Given the description of an element on the screen output the (x, y) to click on. 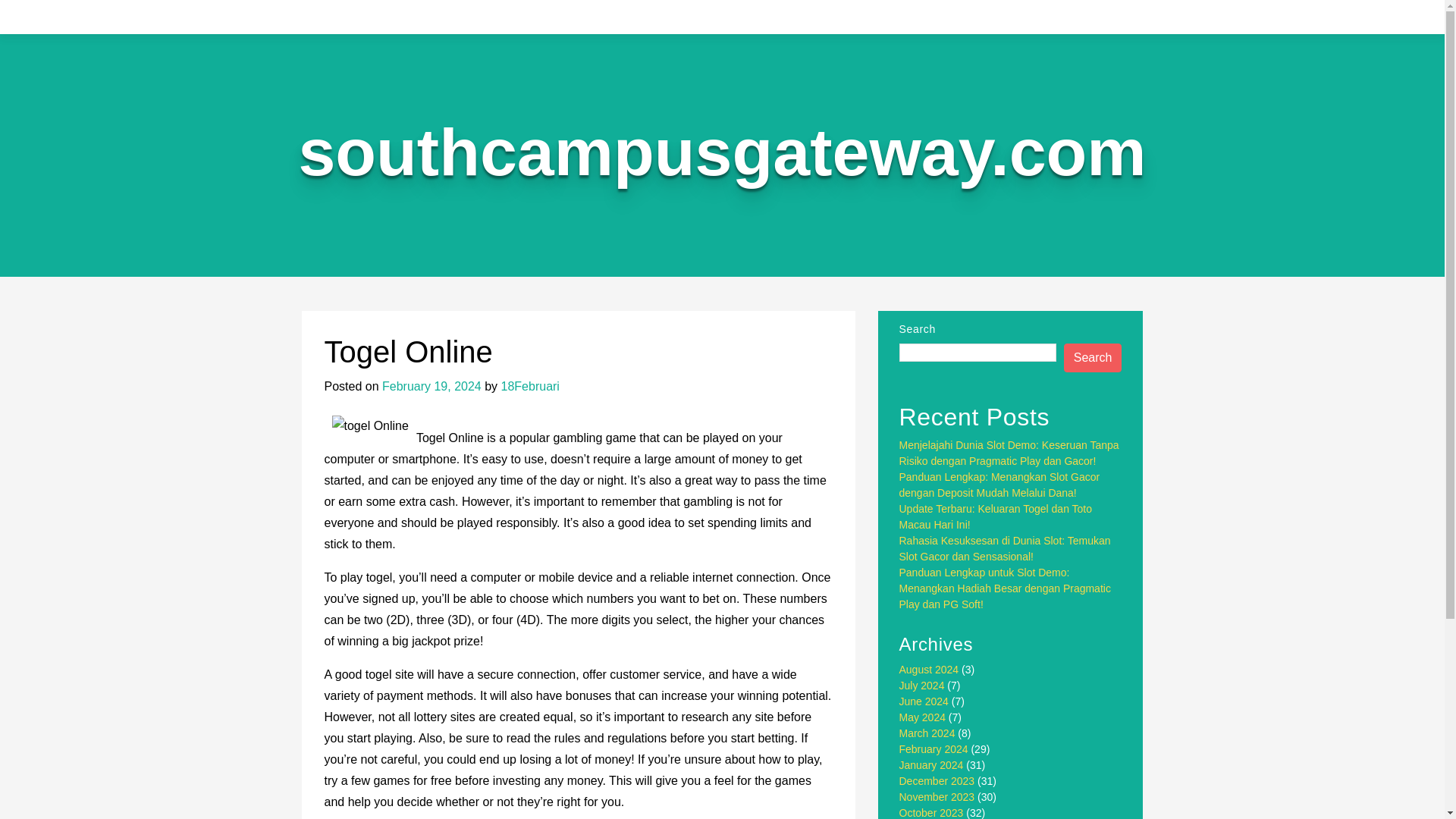
Update Terbaru: Keluaran Togel dan Toto Macau Hari Ini! (996, 516)
March 2024 (927, 733)
February 19, 2024 (431, 386)
December 2023 (937, 780)
Search (1093, 357)
January 2024 (931, 765)
October 2023 (931, 812)
June 2024 (924, 701)
18Februari (529, 386)
February 2024 (933, 748)
